Given the description of an element on the screen output the (x, y) to click on. 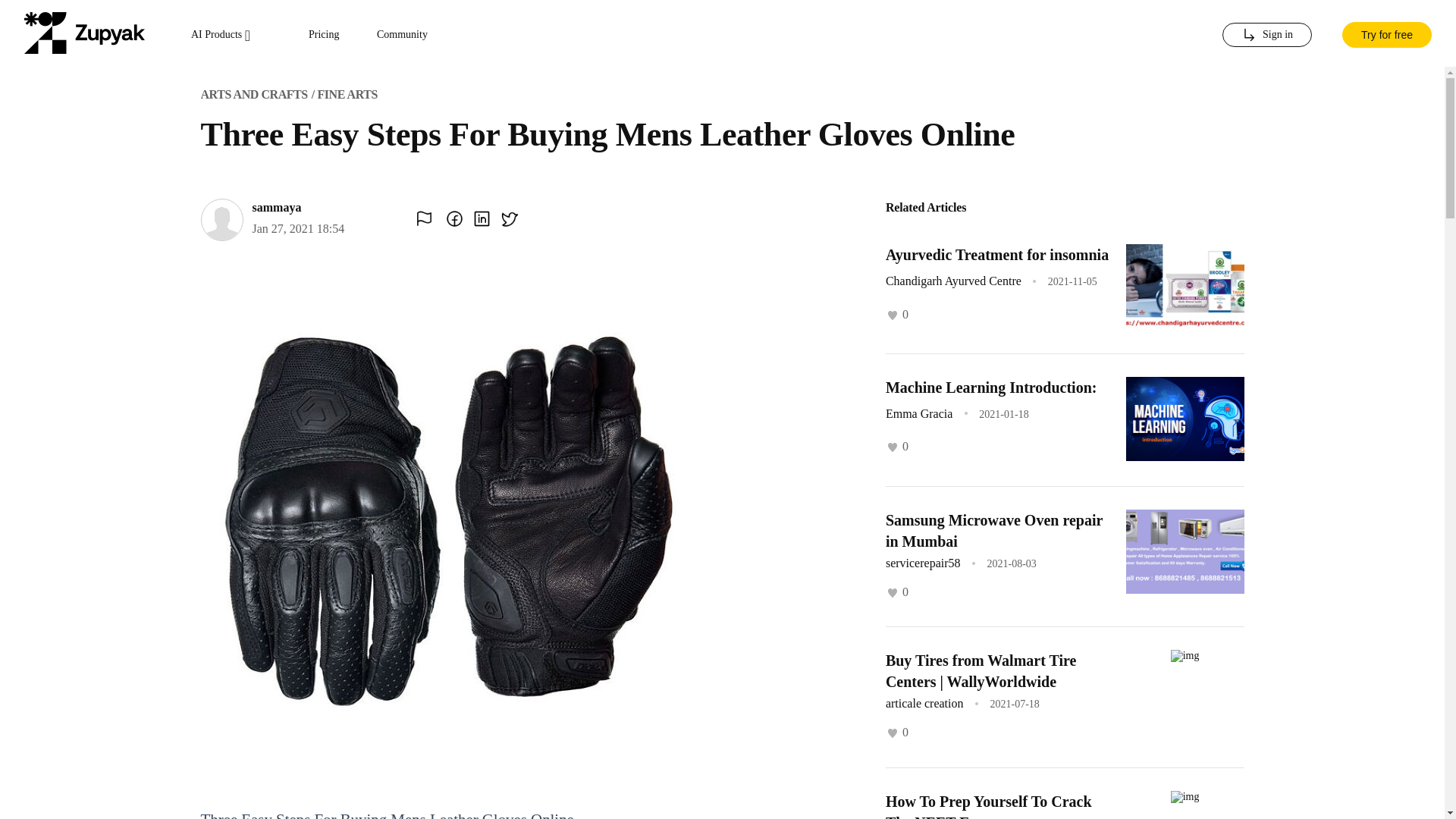
Machine Learning Introduction: (991, 387)
FINE ARTS (347, 93)
Machine Learning Introduction: (991, 387)
How To Prep Yourself To Crack The NEET Exams (988, 806)
Ayurvedic Treatment for insomnia (996, 254)
Ayurvedic Treatment for insomnia (996, 254)
Community (402, 34)
ARTS AND CRAFTS (253, 93)
Pricing (323, 34)
 Sign in (1267, 34)
Try for free (1386, 33)
Samsung Microwave Oven repair in Mumbai (993, 530)
